Given the description of an element on the screen output the (x, y) to click on. 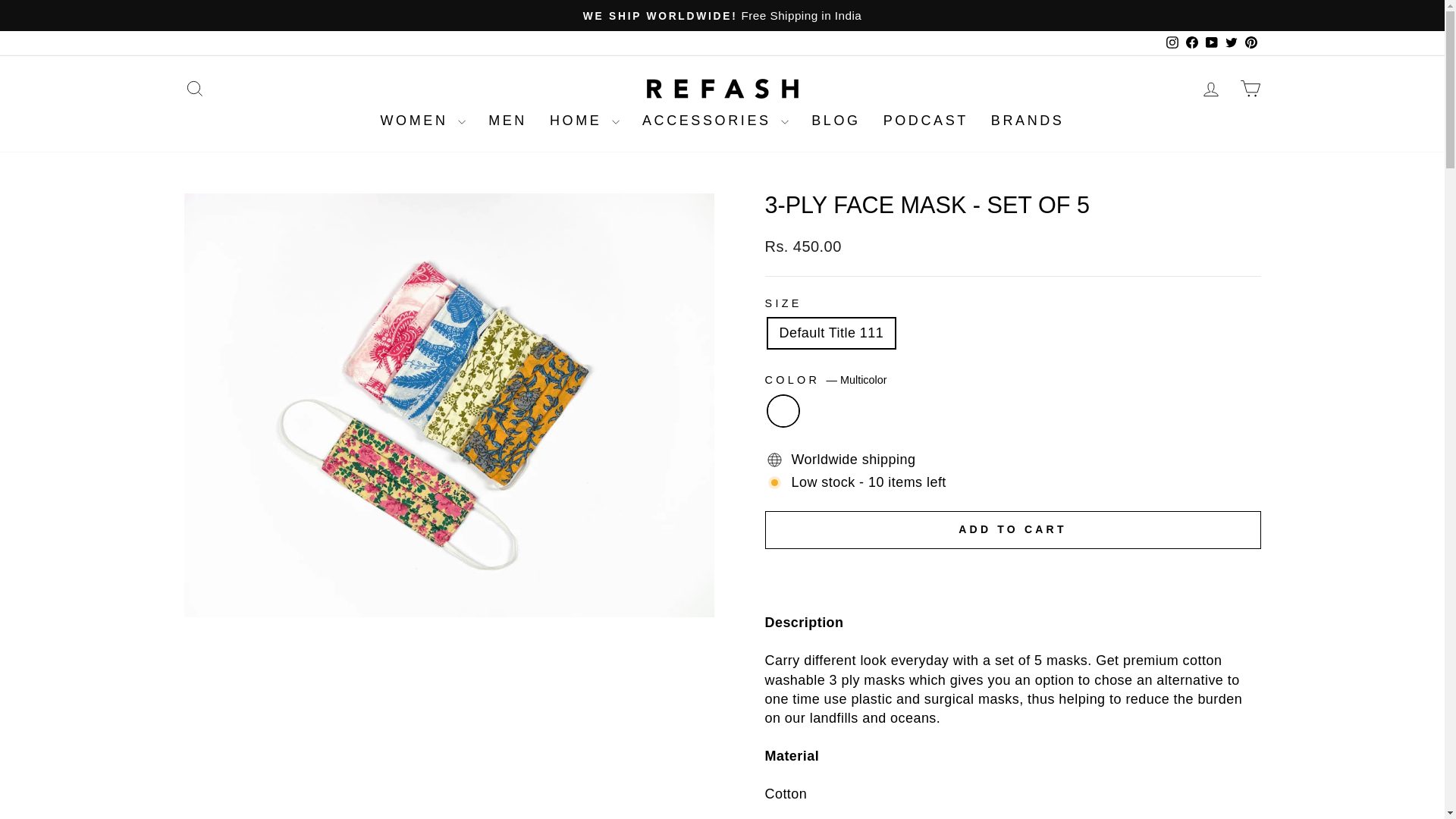
ICON-SEARCH (194, 88)
twitter (1231, 42)
ACCOUNT (1210, 88)
instagram (1171, 42)
